Given the description of an element on the screen output the (x, y) to click on. 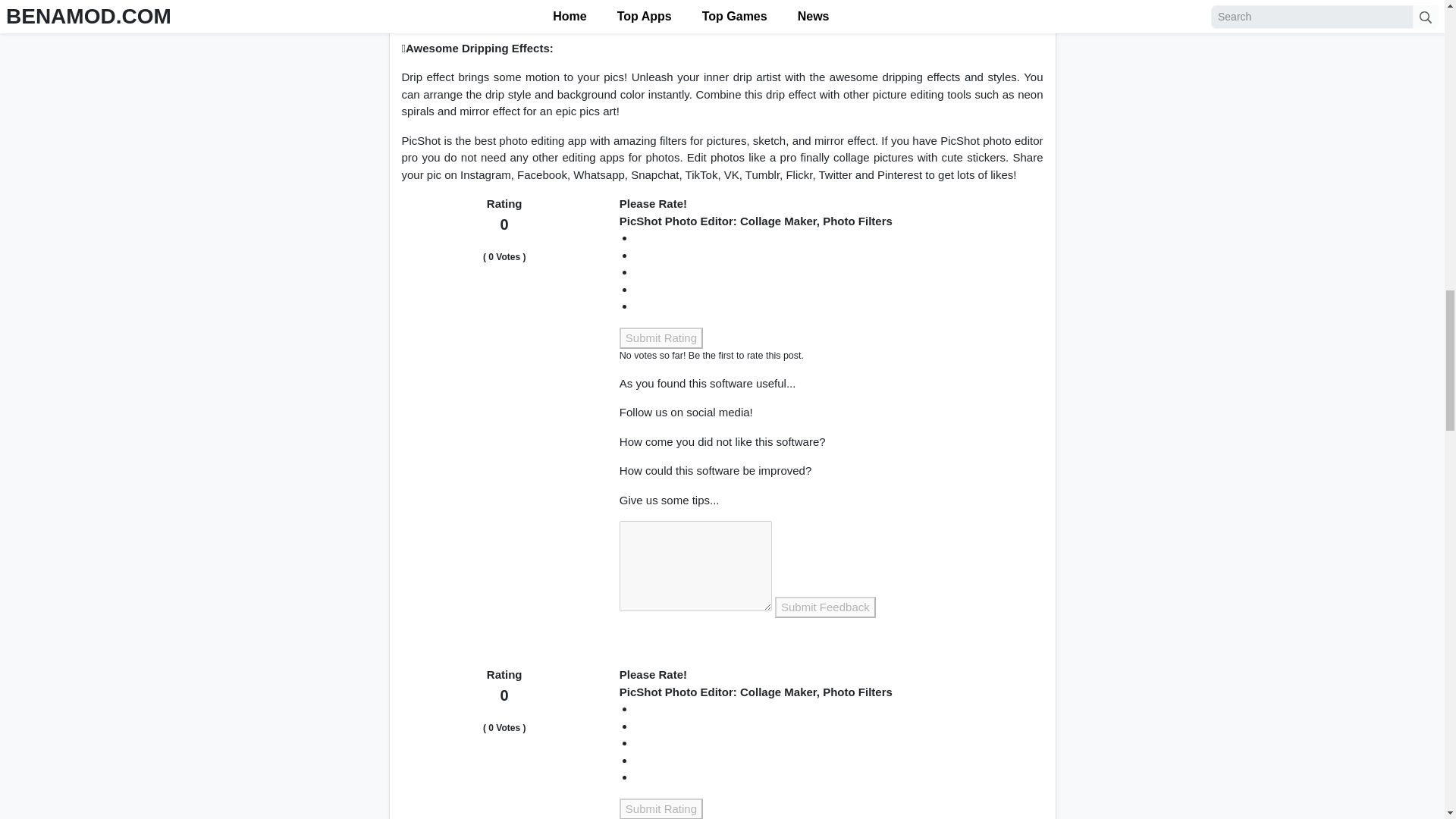
Submit Rating (661, 338)
Submit Rating (661, 808)
Submit Feedback (825, 608)
